Given the description of an element on the screen output the (x, y) to click on. 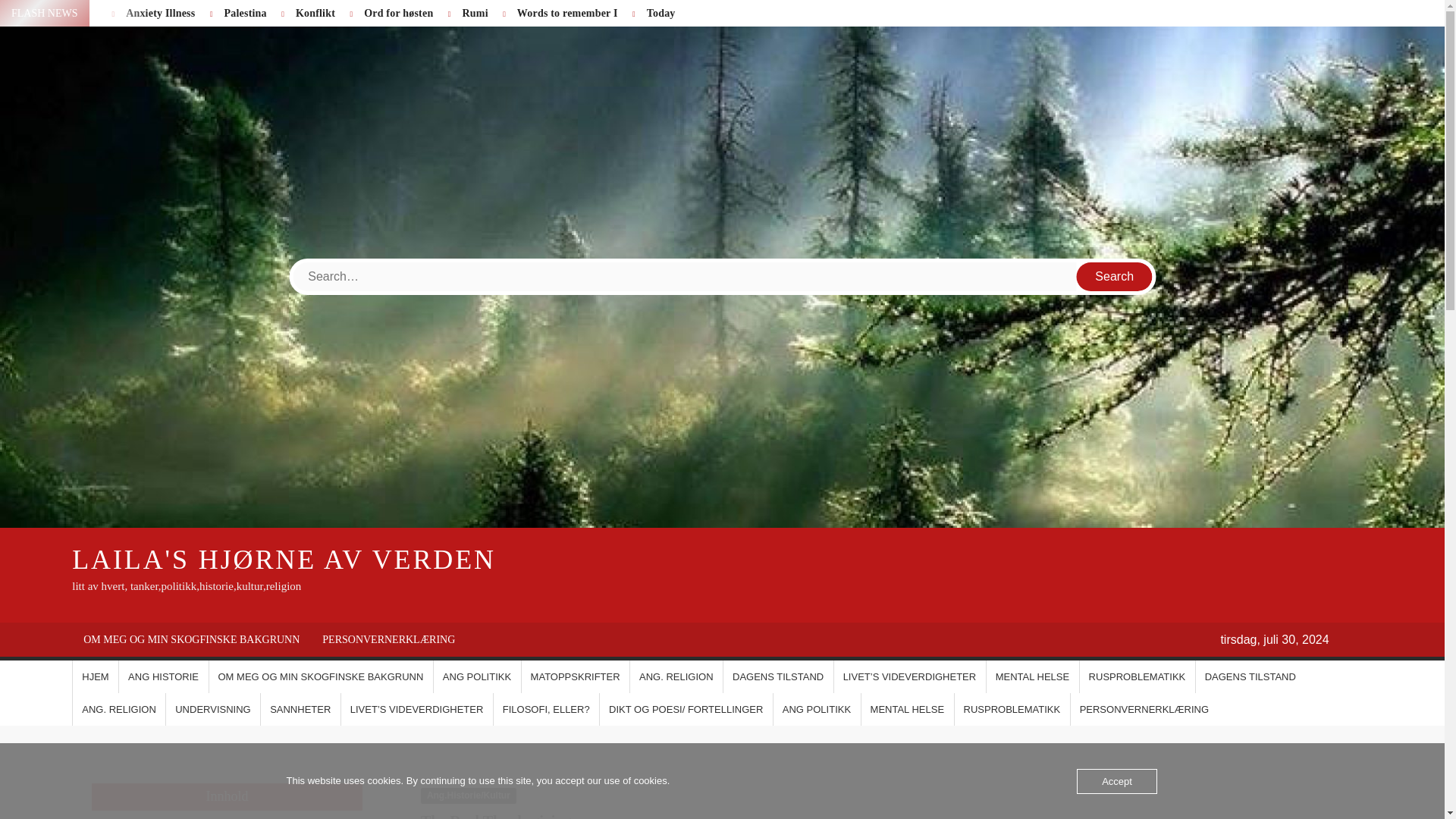
Words to remember I (566, 12)
Today (660, 12)
Anxiety Illness (160, 12)
Konflikt (314, 12)
Anxiety Illness (160, 12)
Rumi (475, 12)
Search (1115, 276)
OM MEG OG MIN SKOGFINSKE BAKGRUNN (191, 639)
Palestina (245, 12)
Words to remember I (566, 12)
Today (660, 12)
Konflikt (314, 12)
Palestina II (41, 12)
Palestina (245, 12)
Palestina II (41, 12)
